Given the description of an element on the screen output the (x, y) to click on. 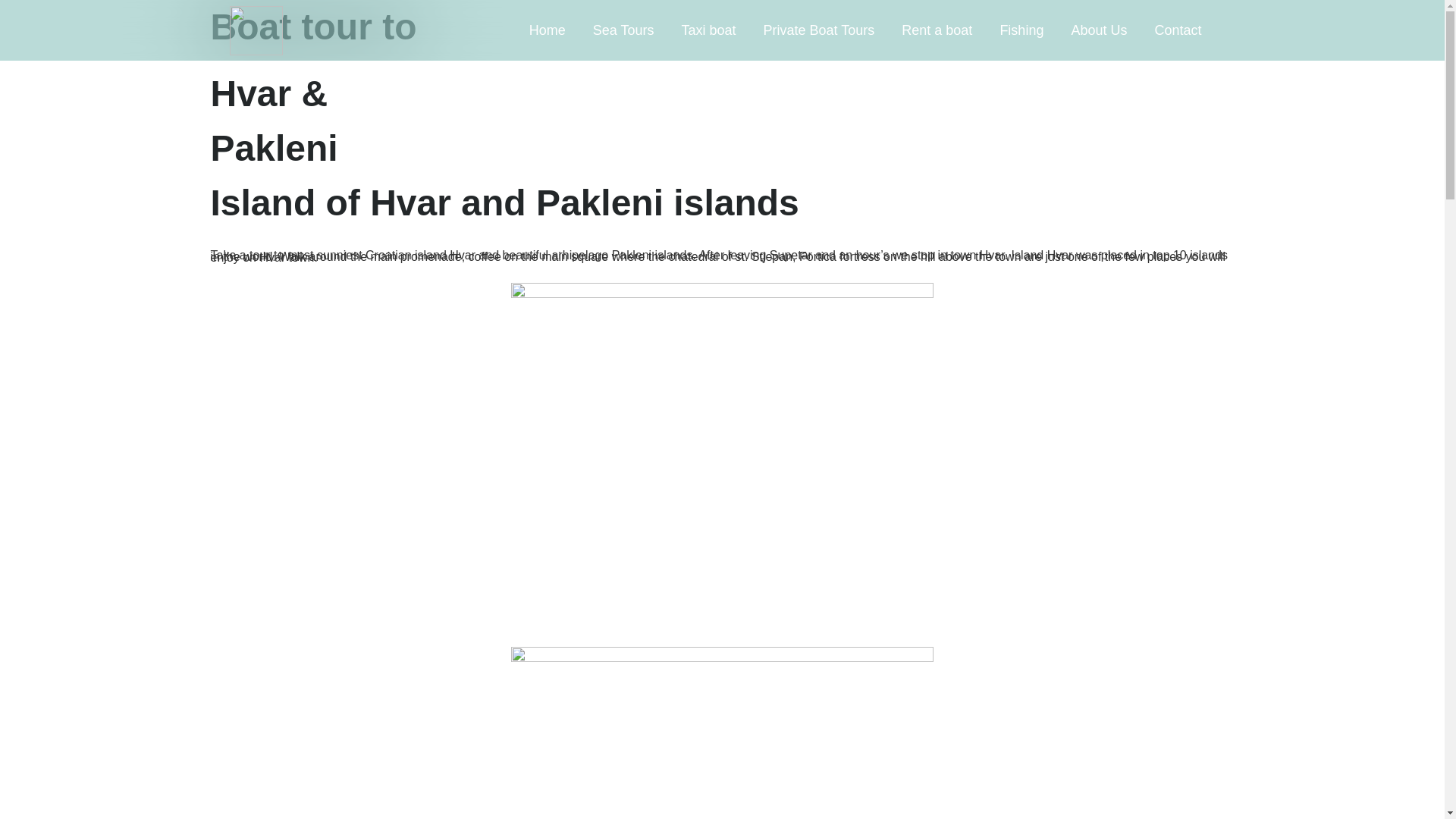
Taxi boat (707, 29)
About Us (1098, 29)
Sea Tours (623, 29)
Private Boat Tours (818, 29)
Home (547, 29)
Rent a boat (936, 29)
Contact (1177, 29)
Fishing (1021, 29)
